Given the description of an element on the screen output the (x, y) to click on. 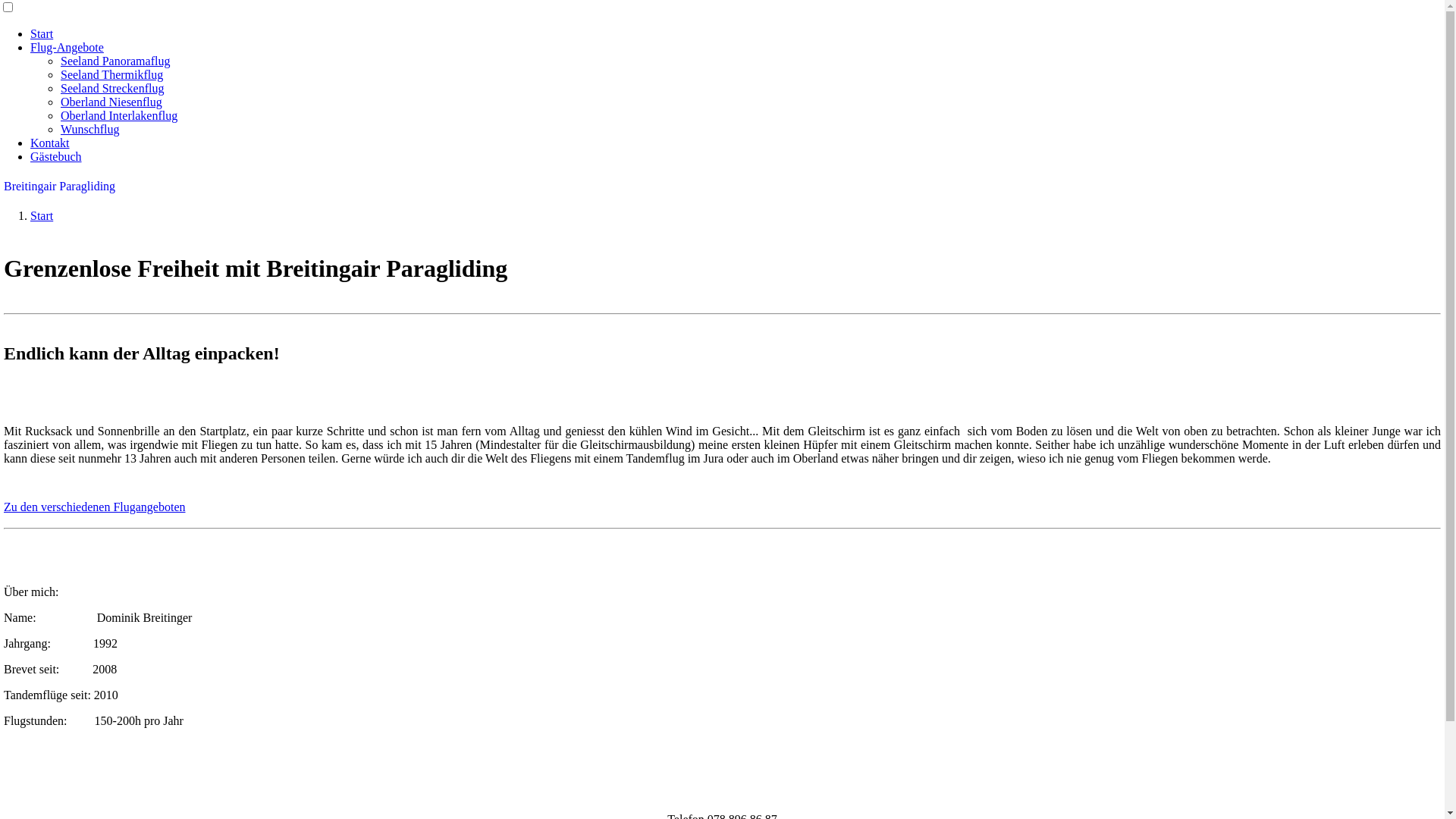
Kontakt Element type: text (49, 142)
Flug-Angebote Element type: text (66, 46)
Seeland Thermikflug Element type: text (111, 74)
Start Element type: text (41, 33)
Seeland Streckenflug Element type: text (111, 87)
Oberland Interlakenflug Element type: text (118, 115)
Oberland Niesenflug Element type: text (111, 101)
Breitingair Paragliding Element type: text (59, 185)
Seeland Panoramaflug Element type: text (114, 60)
Start Element type: text (41, 215)
Wunschflug Element type: text (89, 128)
Zu den verschiedenen Flugangeboten Element type: text (94, 506)
